Given the description of an element on the screen output the (x, y) to click on. 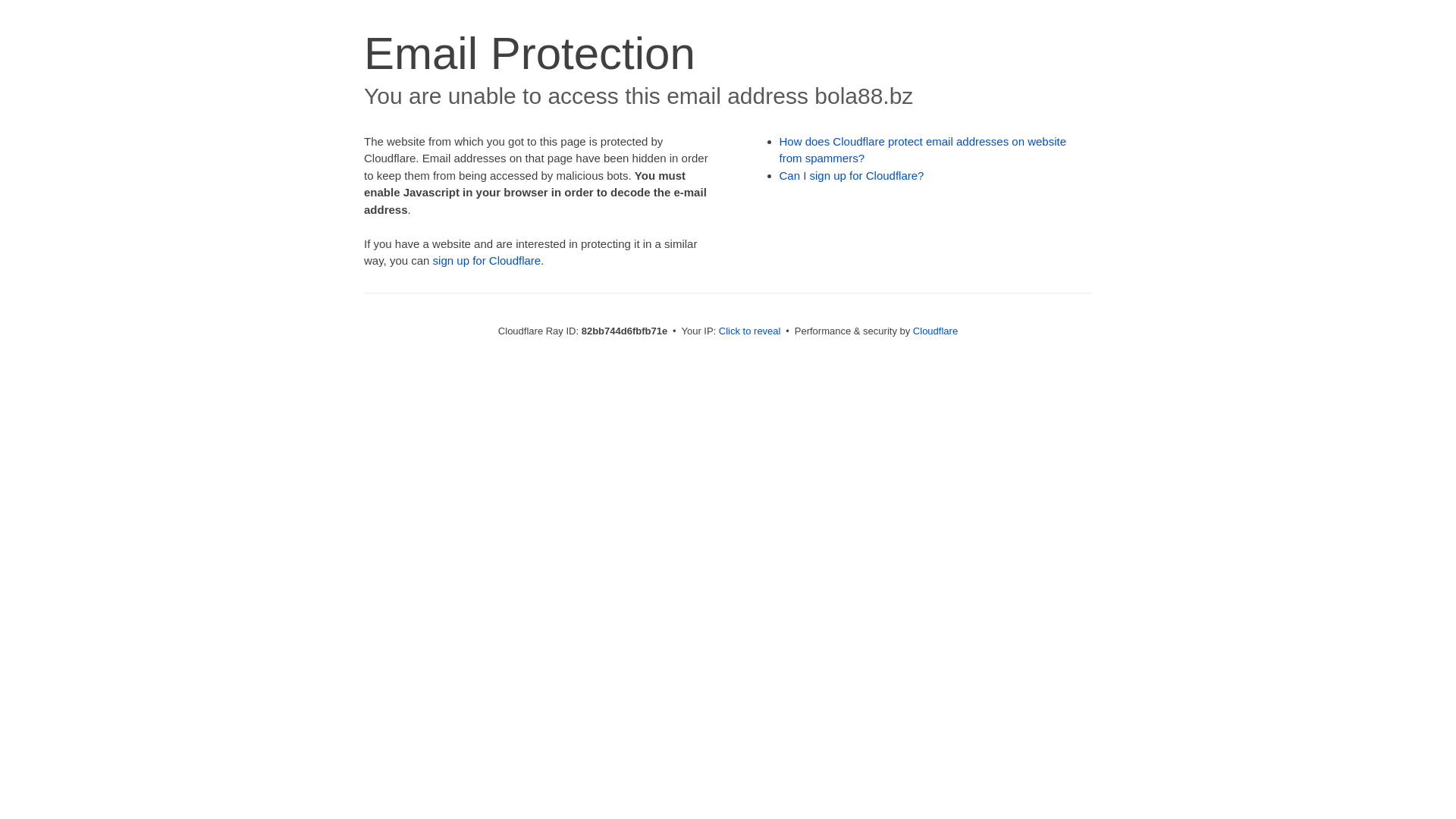
Can I sign up for Cloudflare? Element type: text (851, 175)
Click to reveal Element type: text (749, 330)
sign up for Cloudflare Element type: text (487, 260)
Cloudflare Element type: text (935, 330)
